Given the description of an element on the screen output the (x, y) to click on. 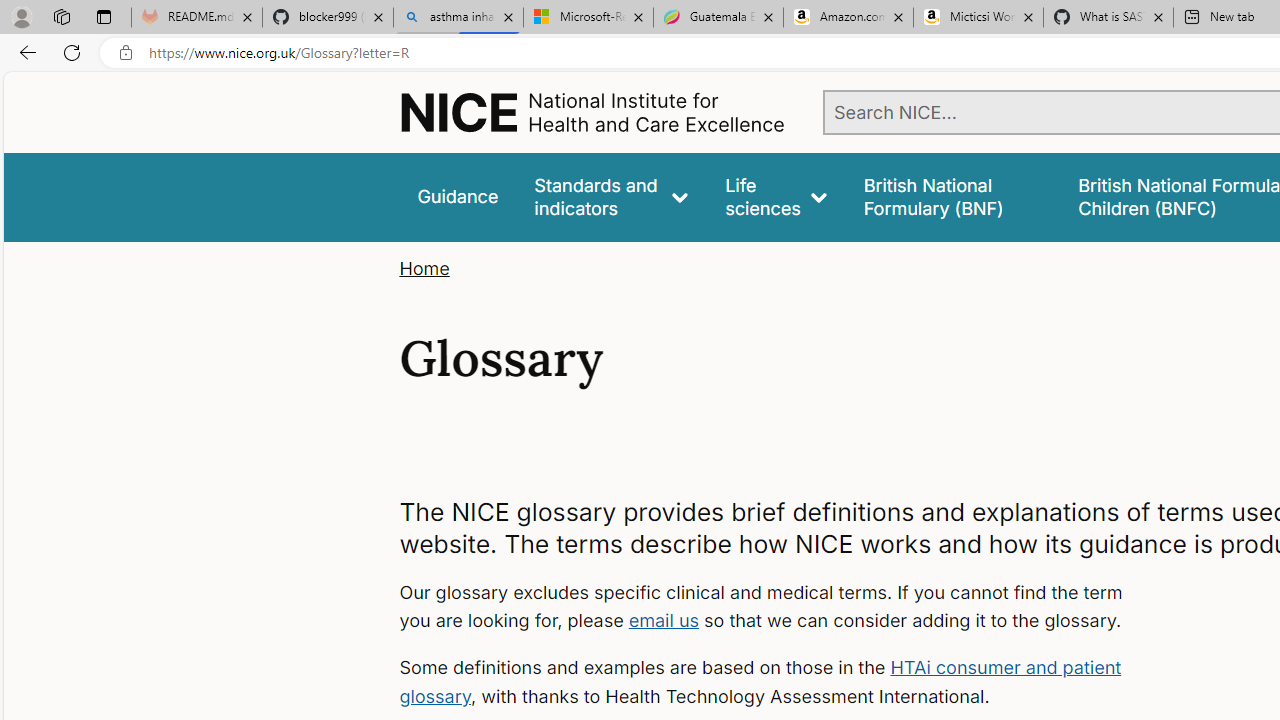
Microsoft-Report a Concern to Bing (587, 17)
View site information (125, 53)
Guidance (458, 196)
false (952, 196)
Personal Profile (21, 16)
Close tab (1158, 16)
email us (664, 620)
Tab actions menu (104, 16)
Back (24, 52)
Guidance (458, 196)
Life sciences (776, 196)
